Given the description of an element on the screen output the (x, y) to click on. 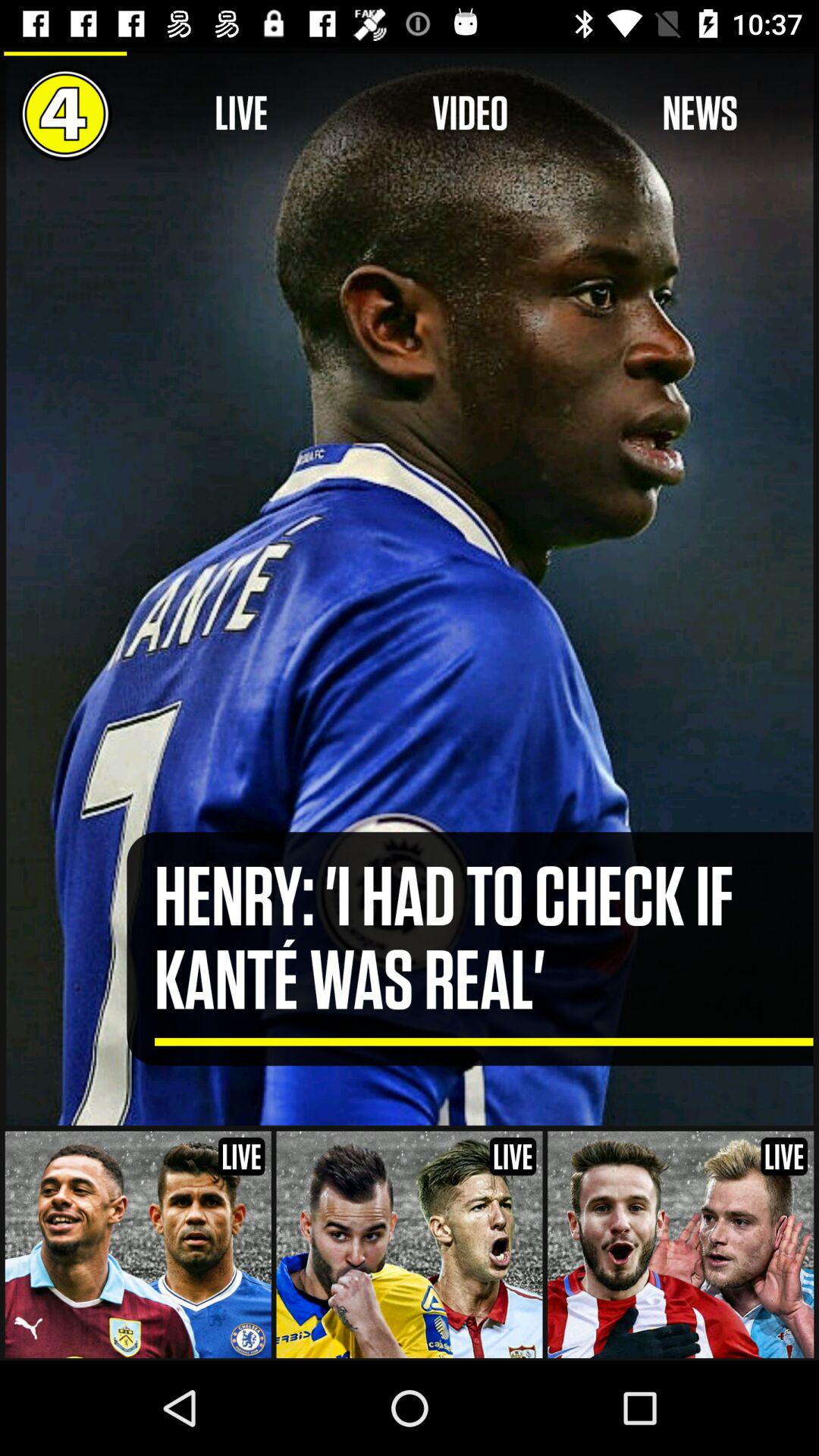
click icon above the henry i had (700, 113)
